Given the description of an element on the screen output the (x, y) to click on. 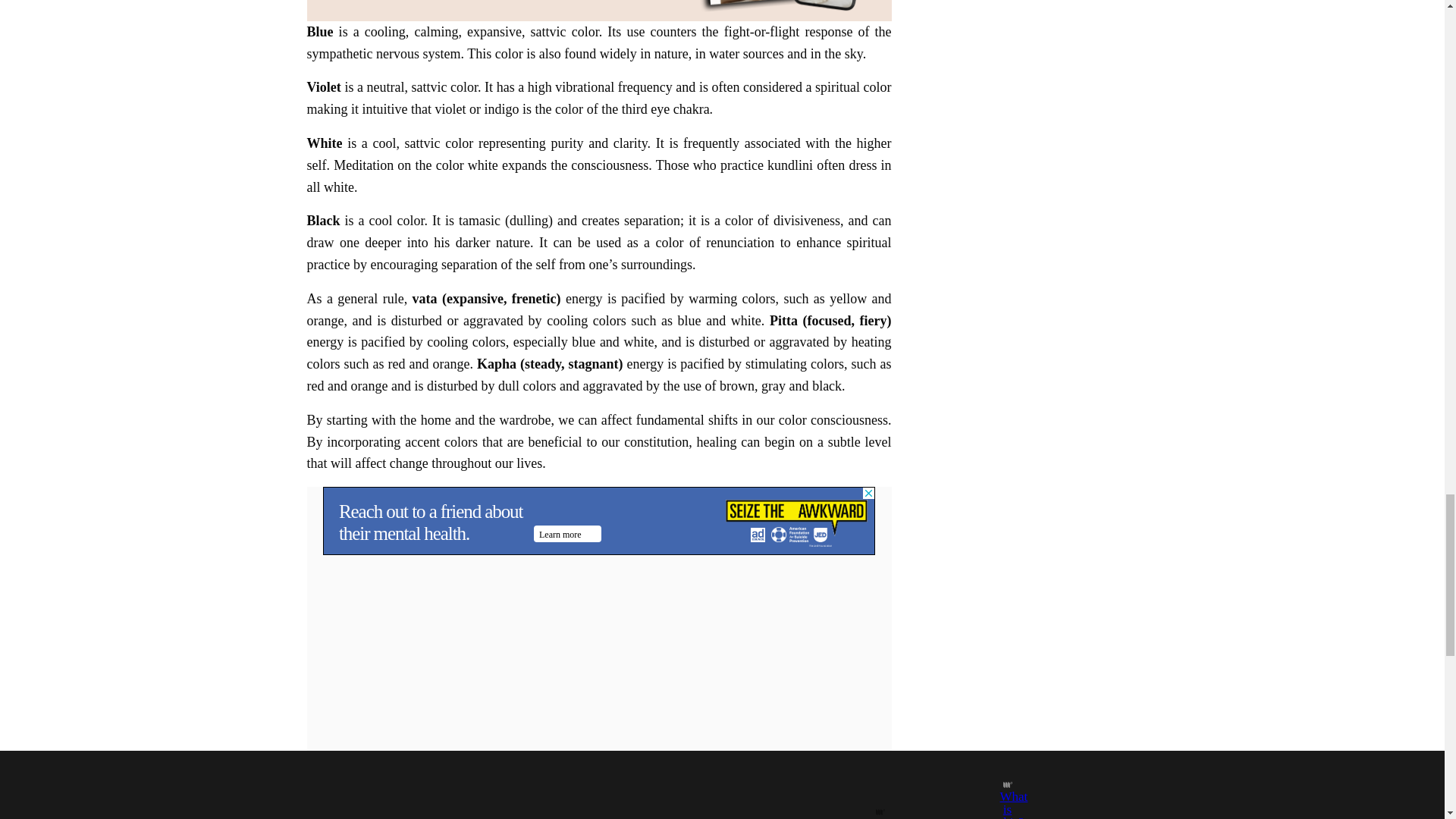
3rd party ad content (599, 520)
